Given the description of an element on the screen output the (x, y) to click on. 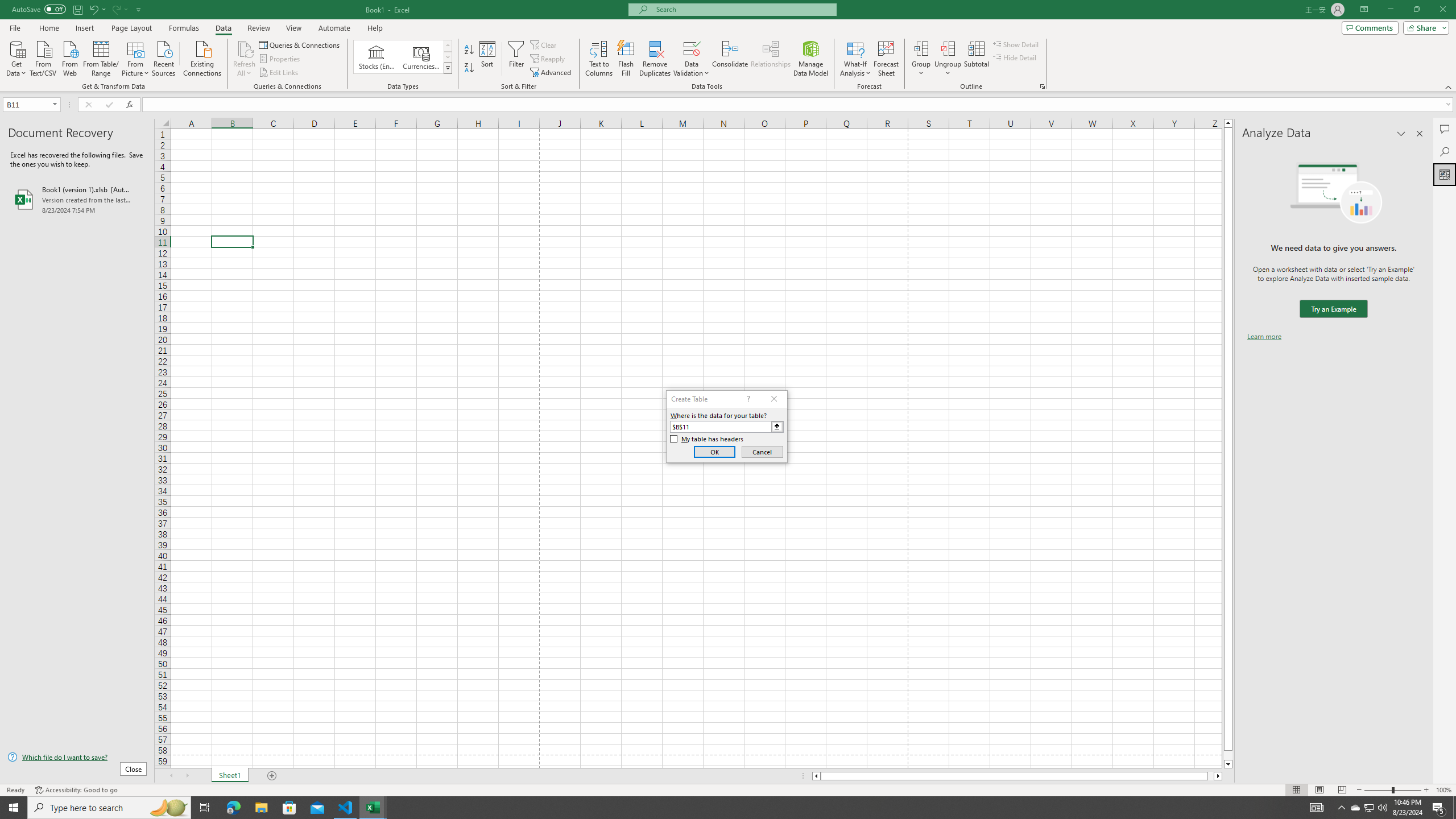
Show Detail (1016, 44)
Hide Detail (1014, 56)
Data Types (448, 67)
Analyze Data (1444, 173)
From Picture (135, 57)
